Given the description of an element on the screen output the (x, y) to click on. 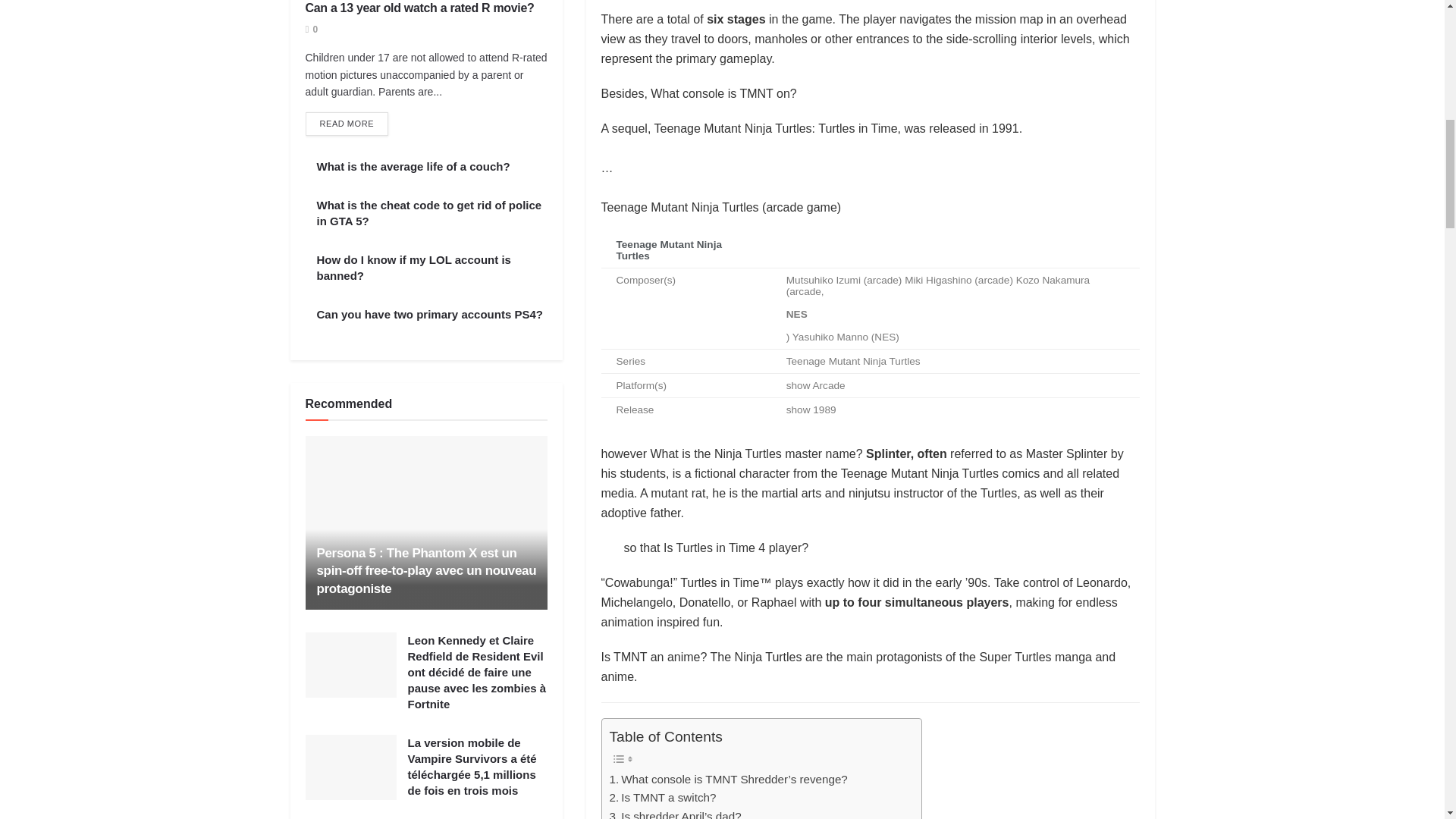
Is TMNT a switch? (663, 797)
